Given the description of an element on the screen output the (x, y) to click on. 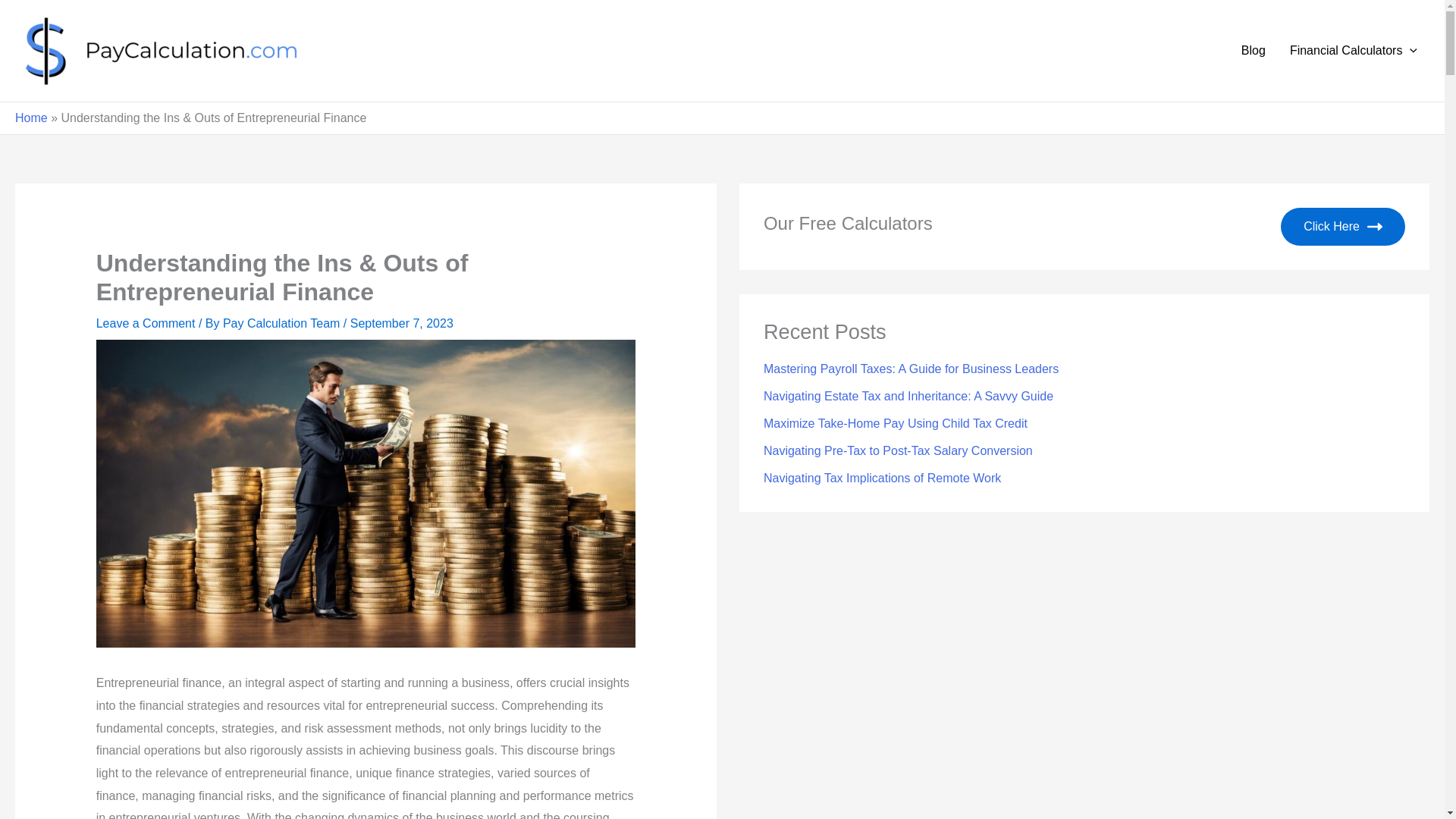
Navigating Estate Tax and Inheritance: A Savvy Guide (907, 395)
Click Here (1343, 226)
Financial Calculators (1353, 50)
Leave a Comment (145, 323)
Home (31, 117)
Maximize Take-Home Pay Using Child Tax Credit (894, 422)
Blog (1253, 50)
Navigating Tax Implications of Remote Work (881, 477)
Pay Calculation Team (282, 323)
View all posts by Pay Calculation Team (282, 323)
Navigating Pre-Tax to Post-Tax Salary Conversion (897, 450)
Mastering Payroll Taxes: A Guide for Business Leaders (910, 368)
